Given the description of an element on the screen output the (x, y) to click on. 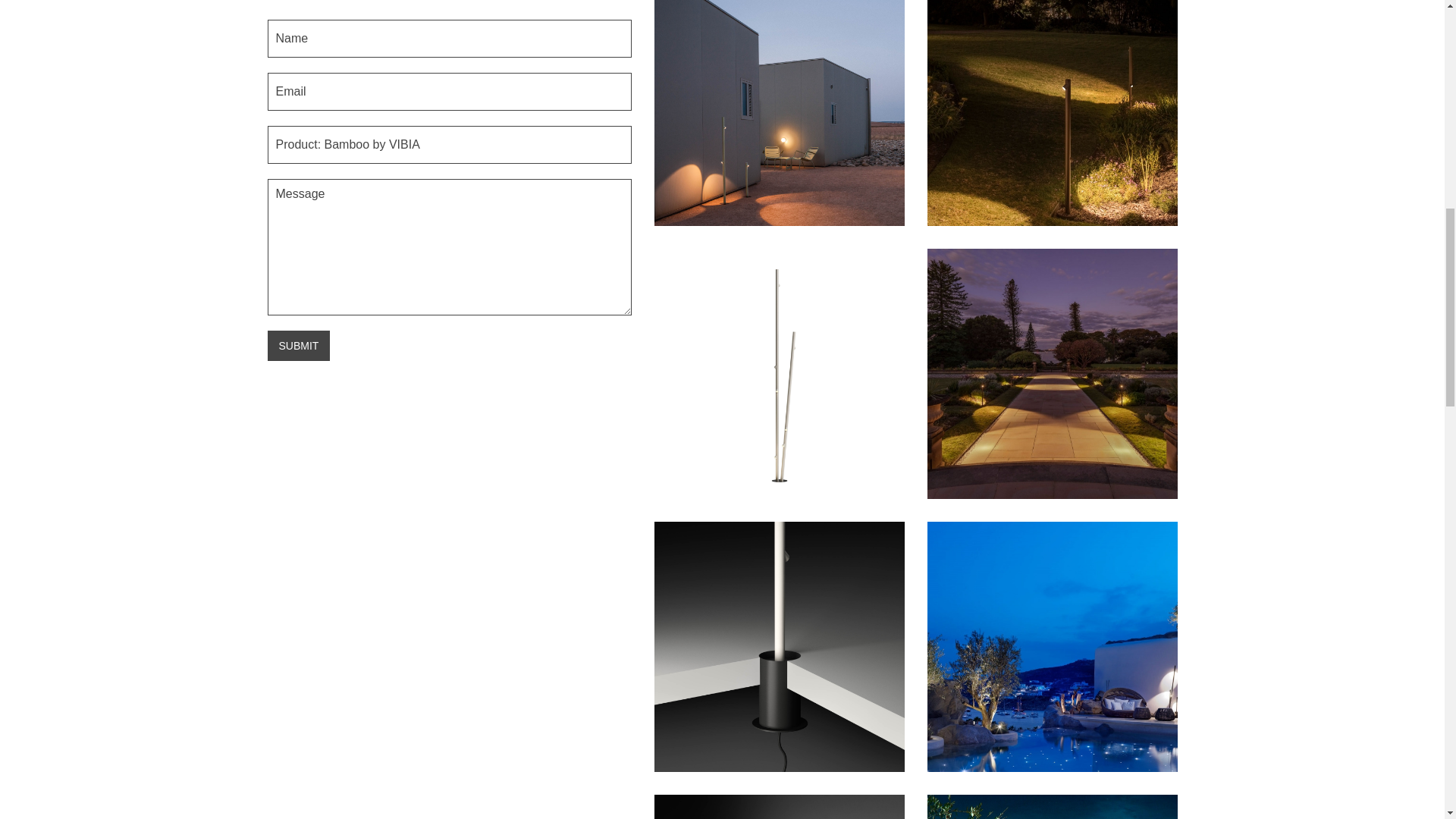
Product: Bamboo by VIBIA (448, 144)
